Given the description of an element on the screen output the (x, y) to click on. 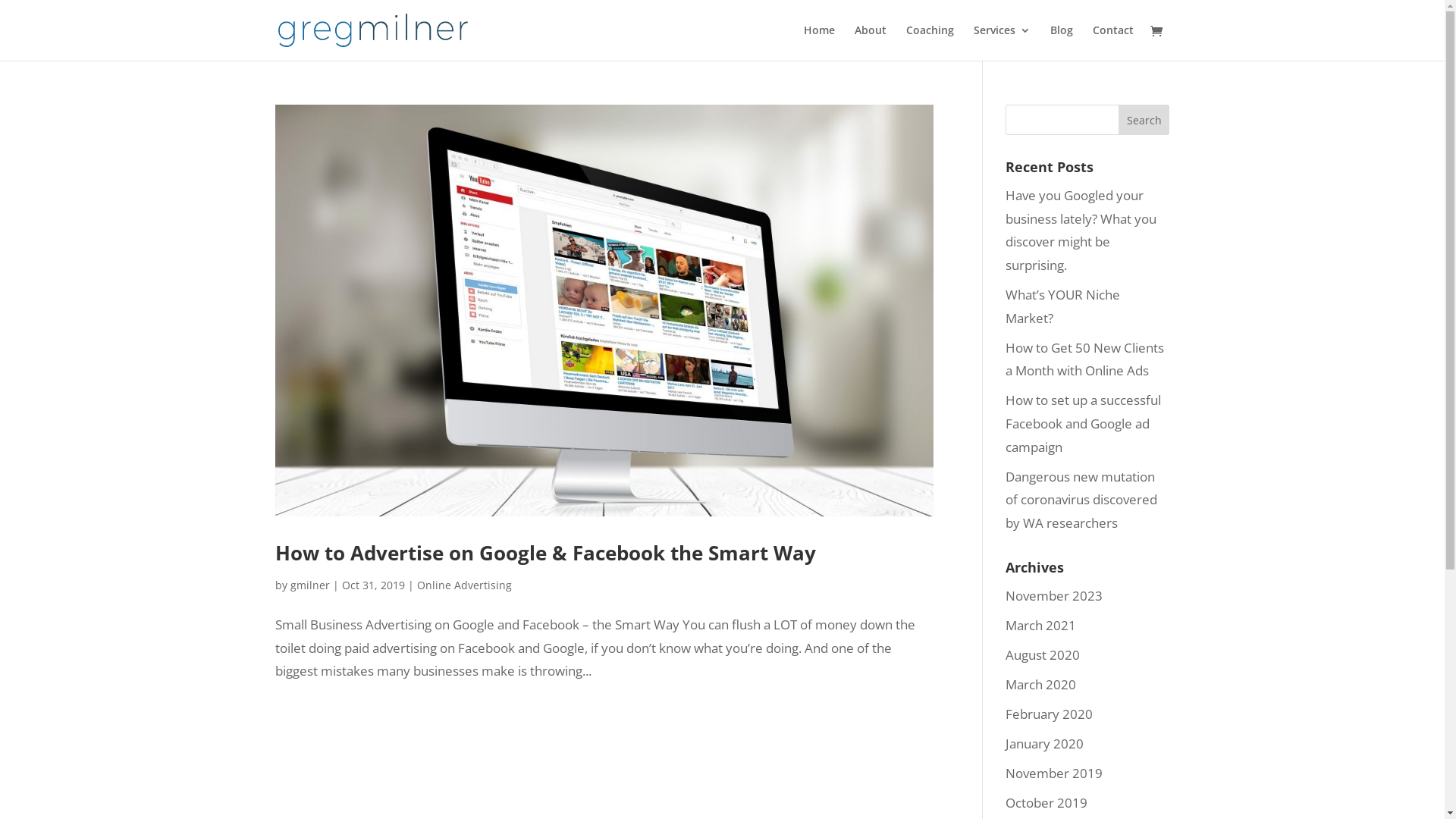
Search Element type: text (1144, 119)
Coaching Element type: text (929, 42)
February 2020 Element type: text (1048, 713)
Online Advertising Element type: text (464, 584)
March 2020 Element type: text (1040, 684)
Services Element type: text (1001, 42)
How to Get 50 New Clients a Month with Online Ads Element type: text (1084, 358)
How to set up a successful Facebook and Google ad campaign Element type: text (1083, 423)
Home Element type: text (818, 42)
How to Advertise on Google & Facebook the Smart Way Element type: text (544, 552)
March 2021 Element type: text (1040, 624)
October 2019 Element type: text (1046, 802)
November 2019 Element type: text (1053, 772)
January 2020 Element type: text (1044, 743)
About Element type: text (869, 42)
August 2020 Element type: text (1042, 654)
gmilner Element type: text (309, 584)
November 2023 Element type: text (1053, 595)
Blog Element type: text (1060, 42)
Contact Element type: text (1112, 42)
